Given the description of an element on the screen output the (x, y) to click on. 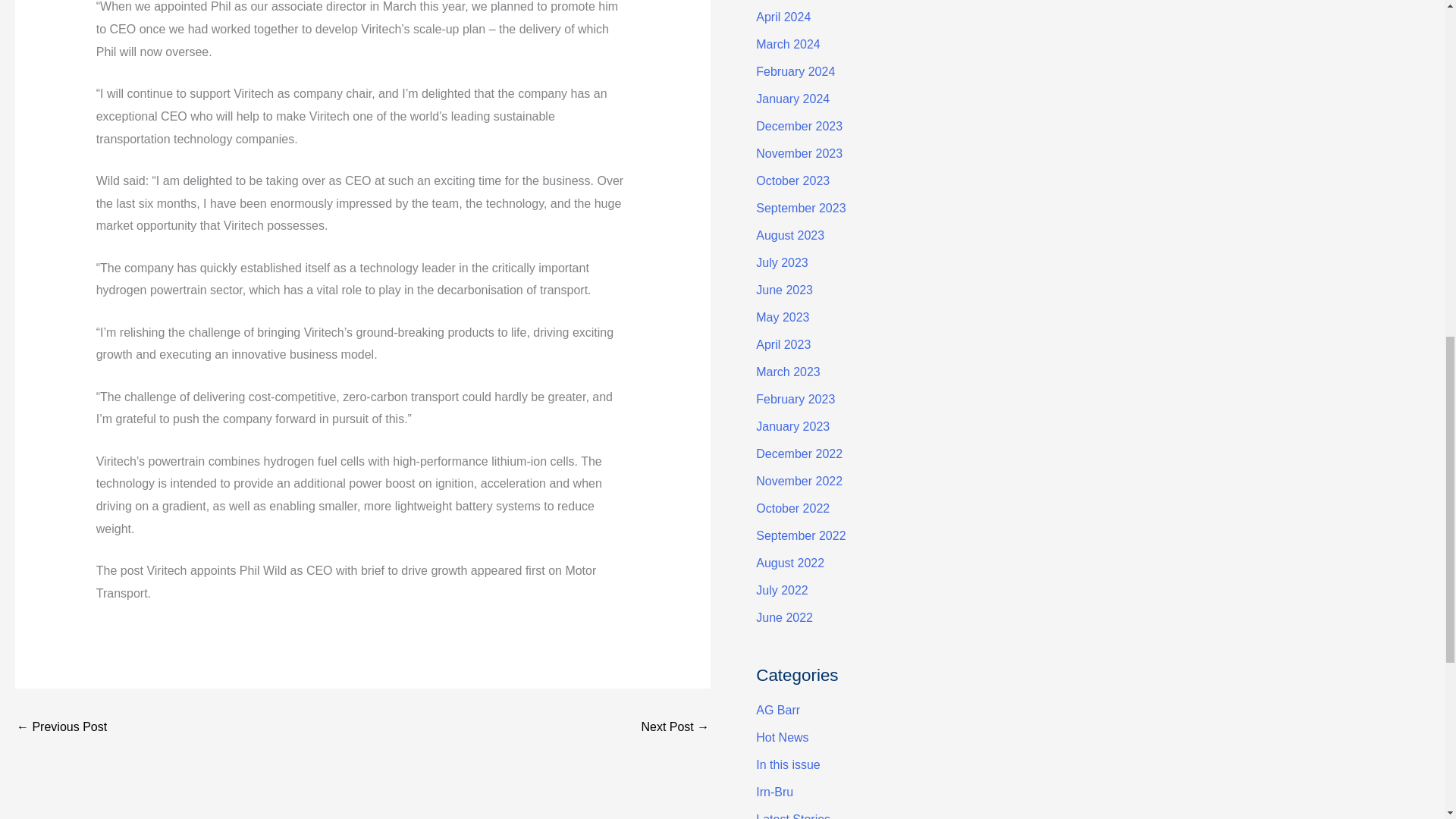
DAF Keen On Zero Emissions Programme (674, 728)
Salt Barns Full For Winter Roads (61, 728)
